Given the description of an element on the screen output the (x, y) to click on. 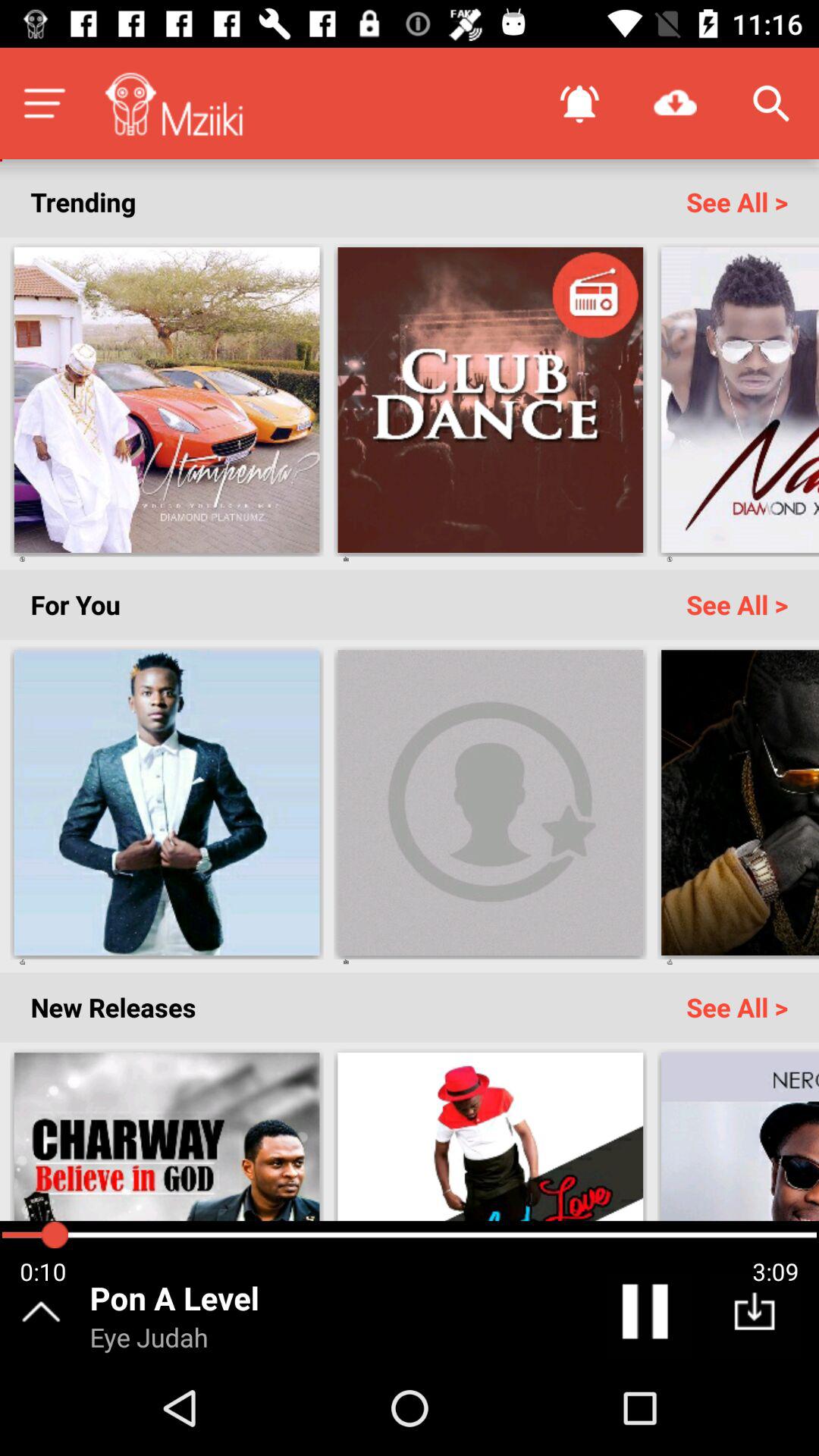
show playlist (44, 103)
